Given the description of an element on the screen output the (x, y) to click on. 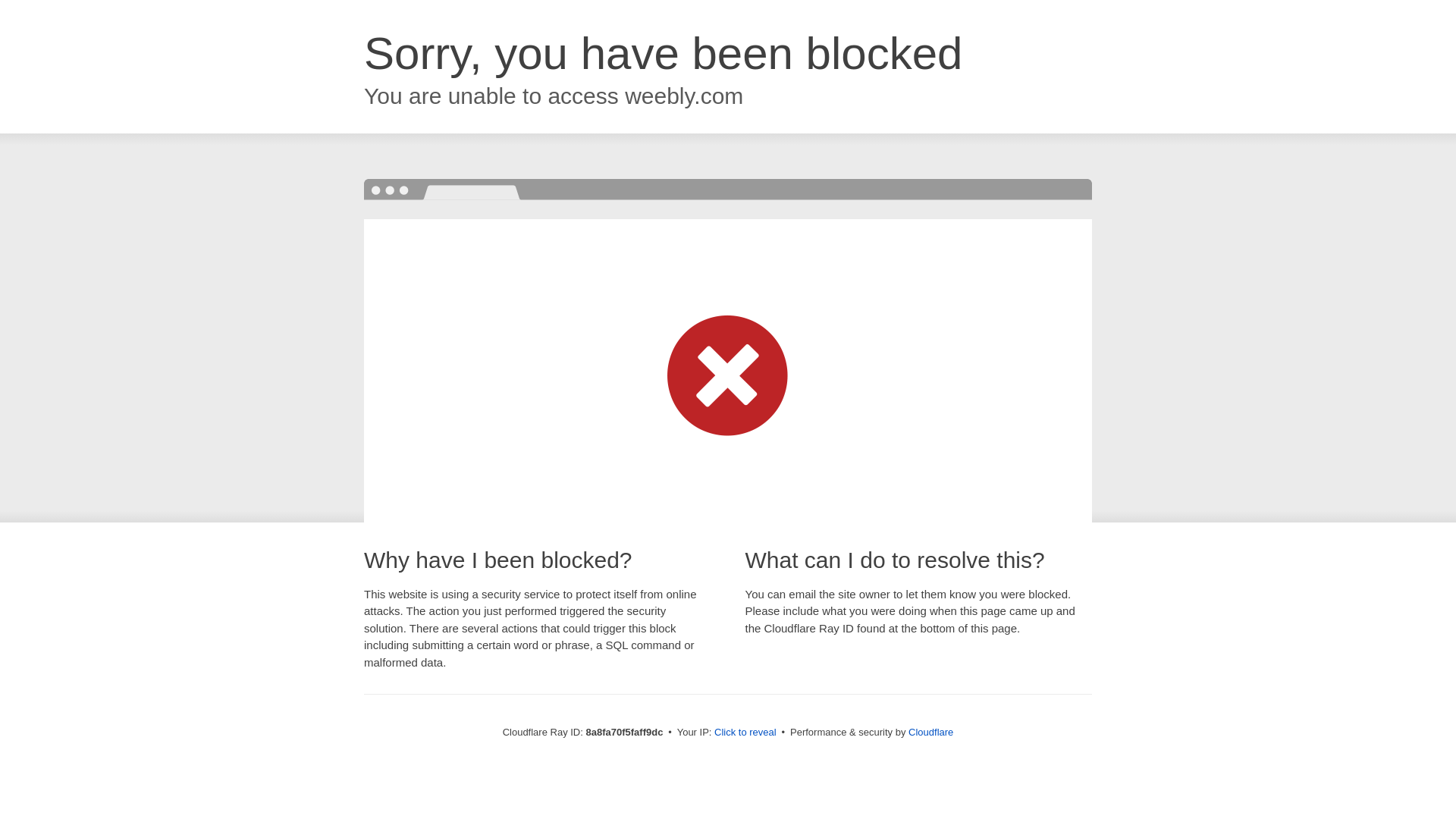
Click to reveal (745, 732)
Cloudflare (930, 731)
